Given the description of an element on the screen output the (x, y) to click on. 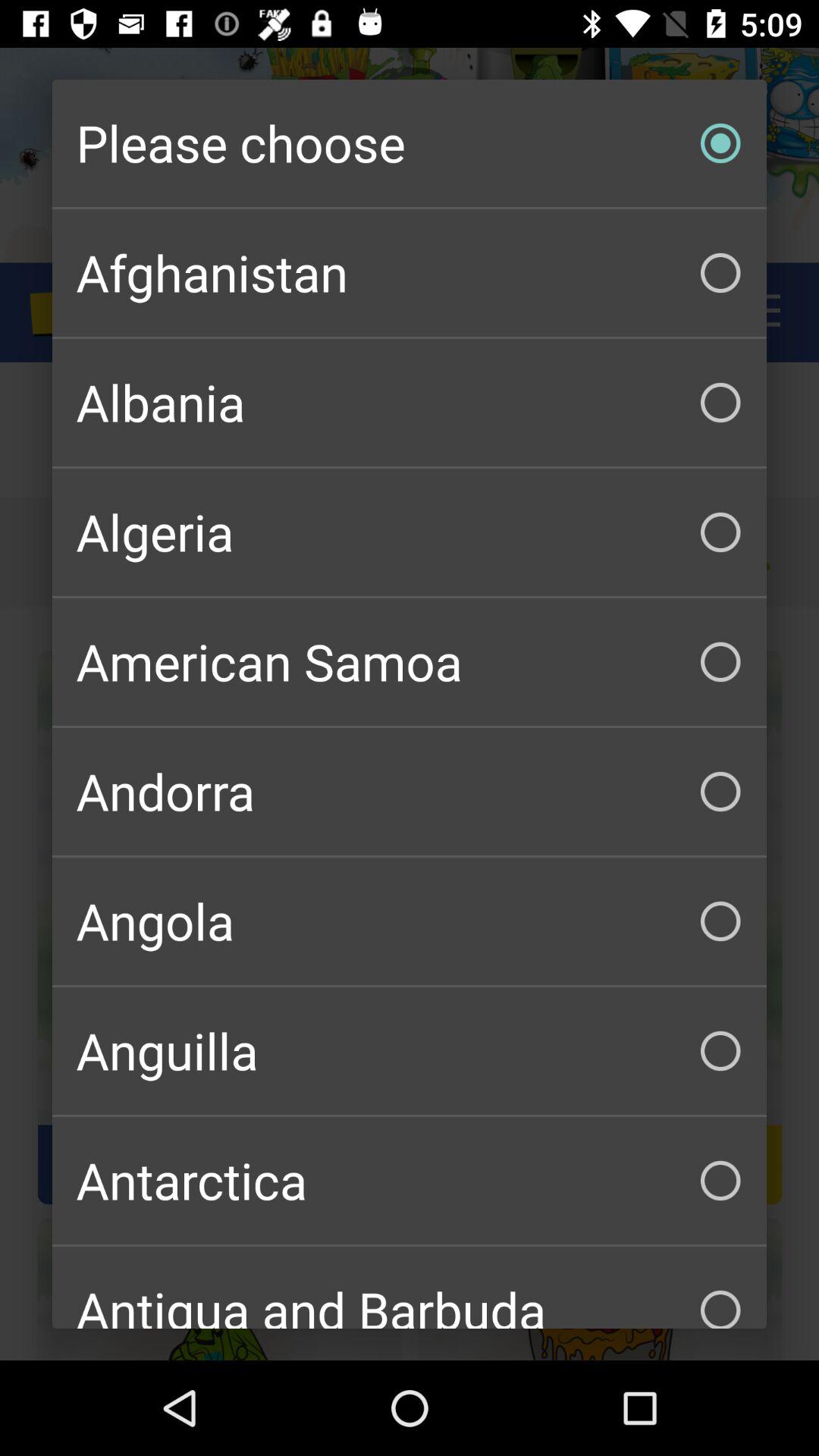
open the anguilla checkbox (409, 1050)
